Given the description of an element on the screen output the (x, y) to click on. 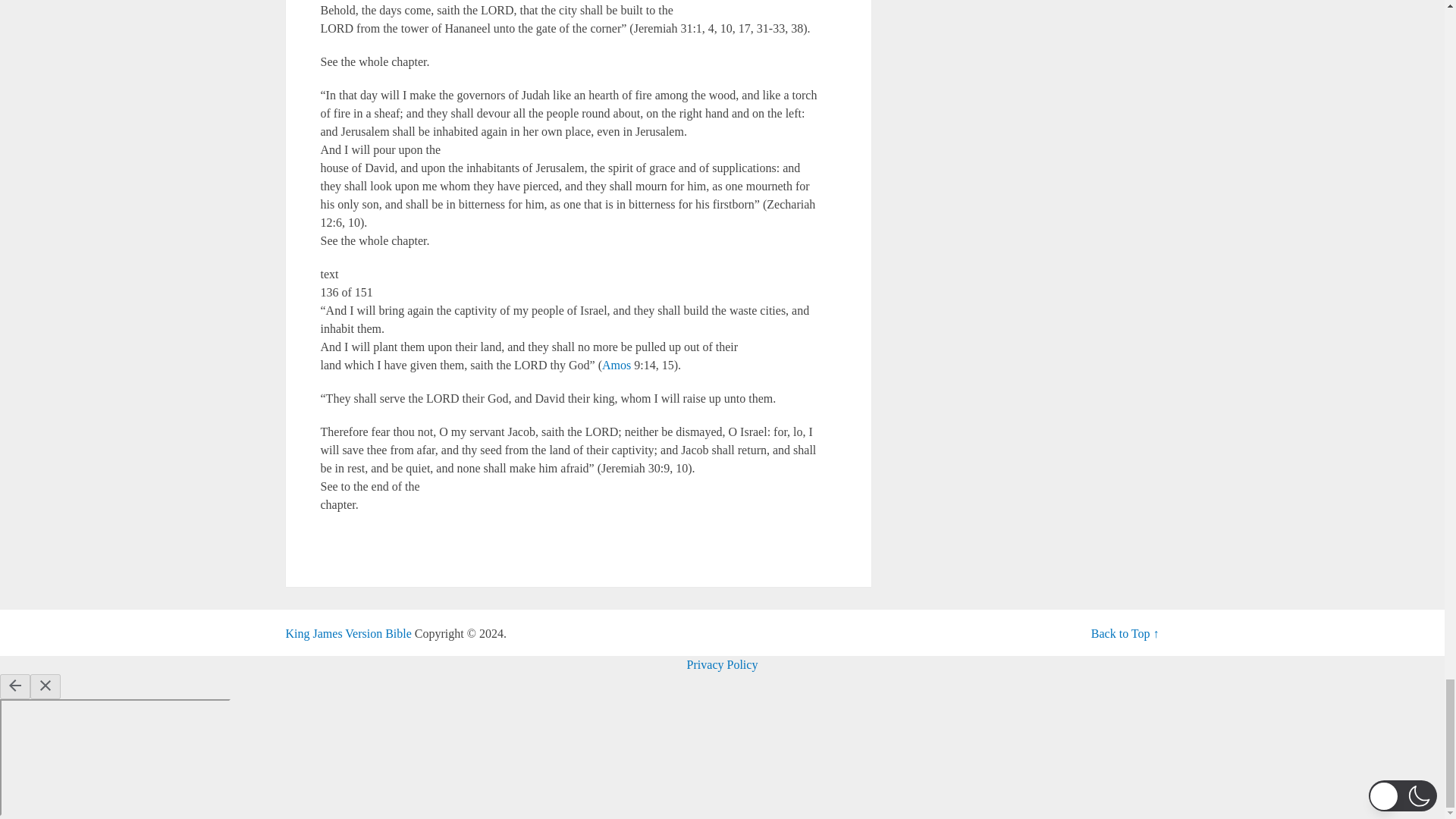
Word of God, Old and New Testament and Biblical Dictionary. (347, 633)
Amos (616, 364)
Amos (616, 364)
